Given the description of an element on the screen output the (x, y) to click on. 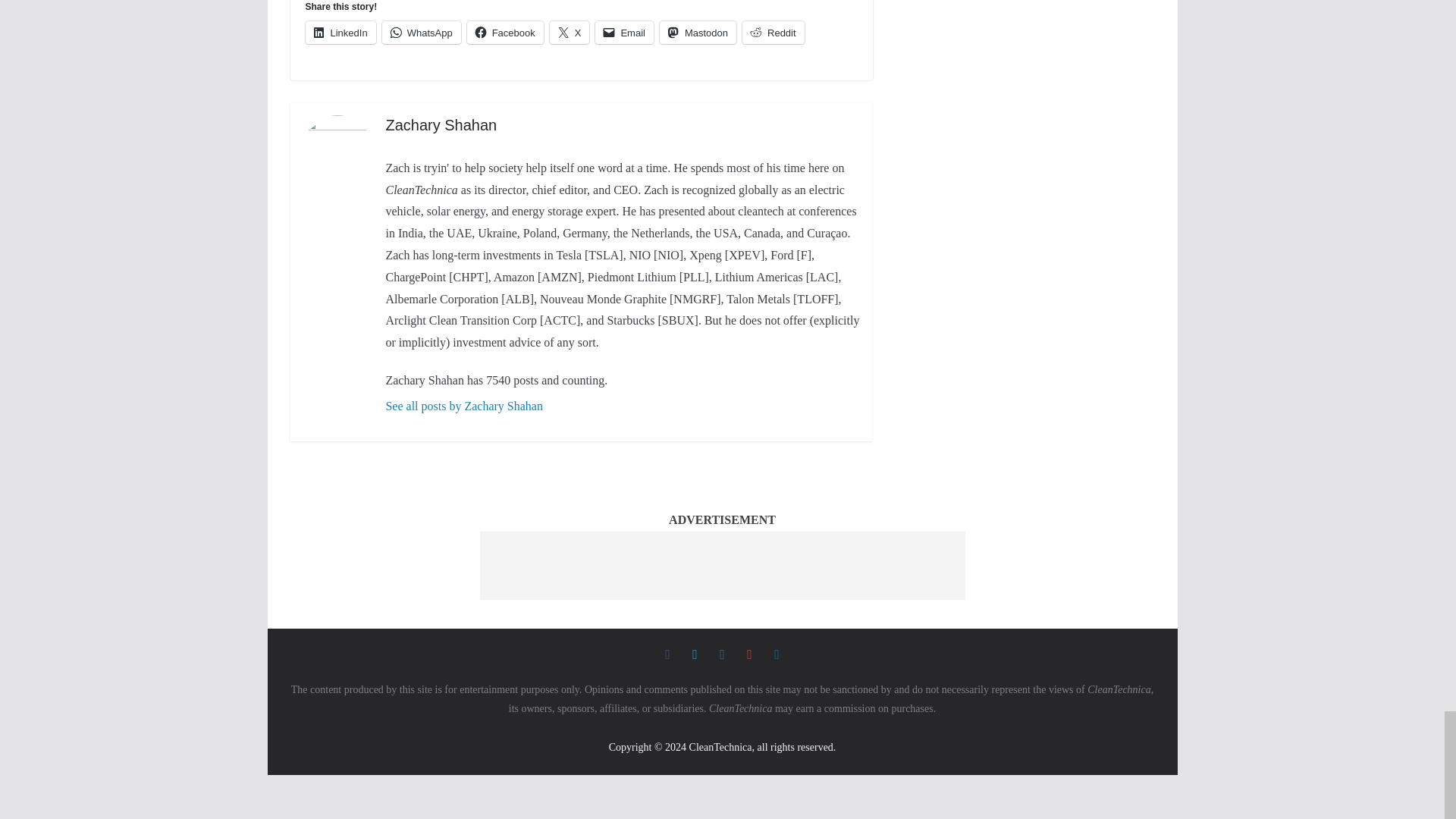
Click to share on Facebook (505, 32)
Click to share on Mastodon (697, 32)
Click to share on X (569, 32)
Click to share on Reddit (773, 32)
Click to email a link to a friend (624, 32)
Click to share on LinkedIn (339, 32)
Click to share on WhatsApp (421, 32)
